Given the description of an element on the screen output the (x, y) to click on. 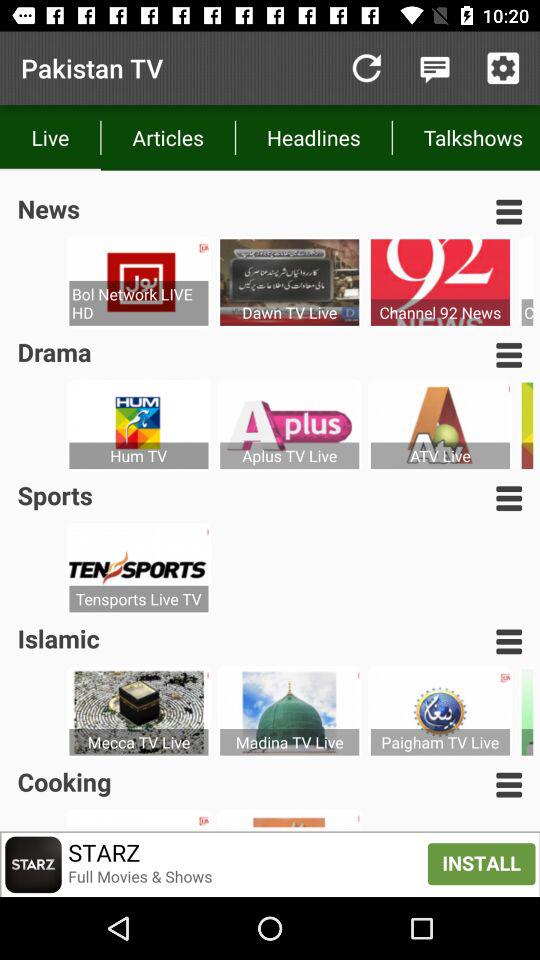
advertisement to install starz app (270, 864)
